Given the description of an element on the screen output the (x, y) to click on. 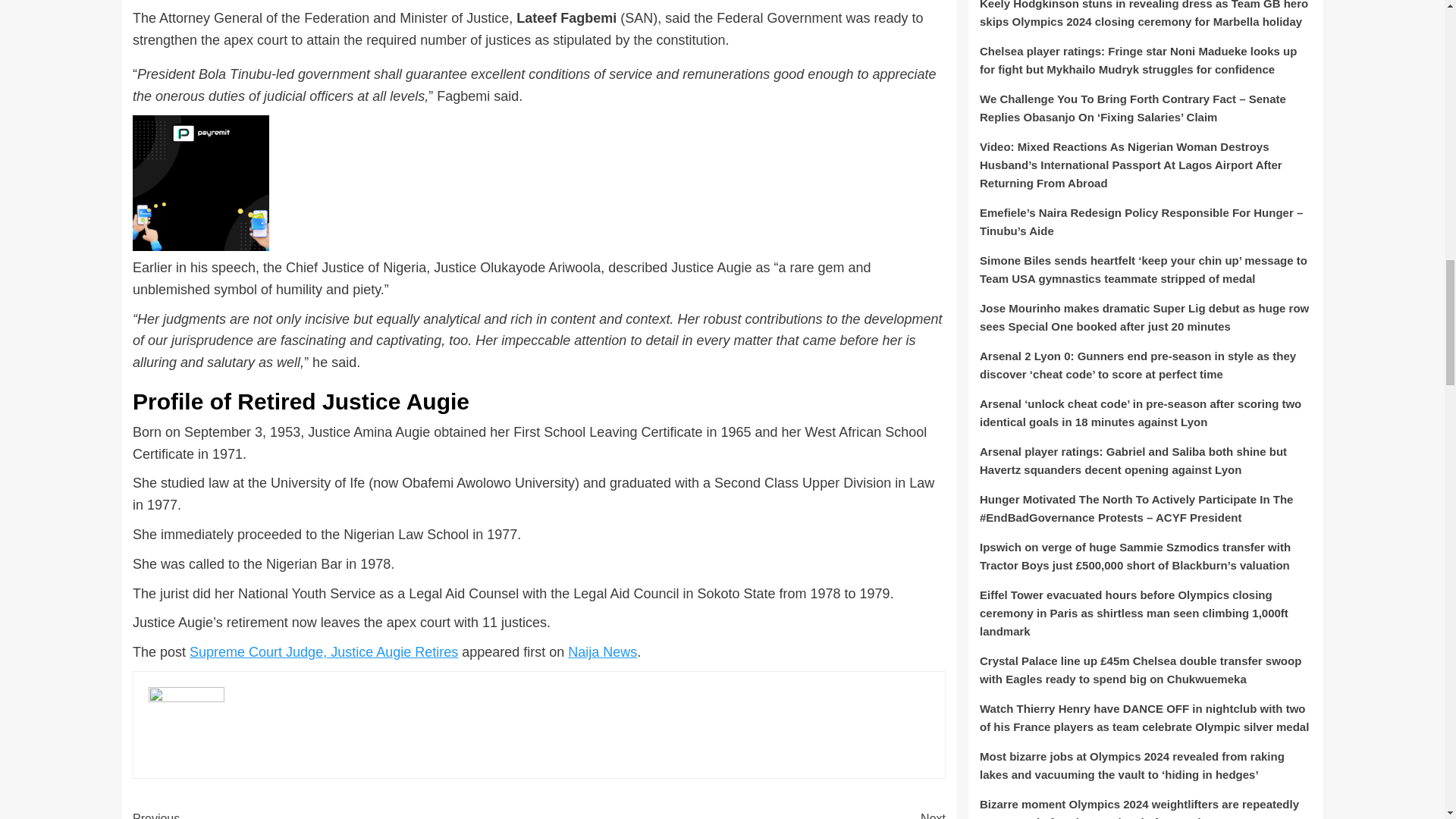
Naija News (602, 652)
Supreme Court Judge, Justice Augie Retires (323, 652)
